Given the description of an element on the screen output the (x, y) to click on. 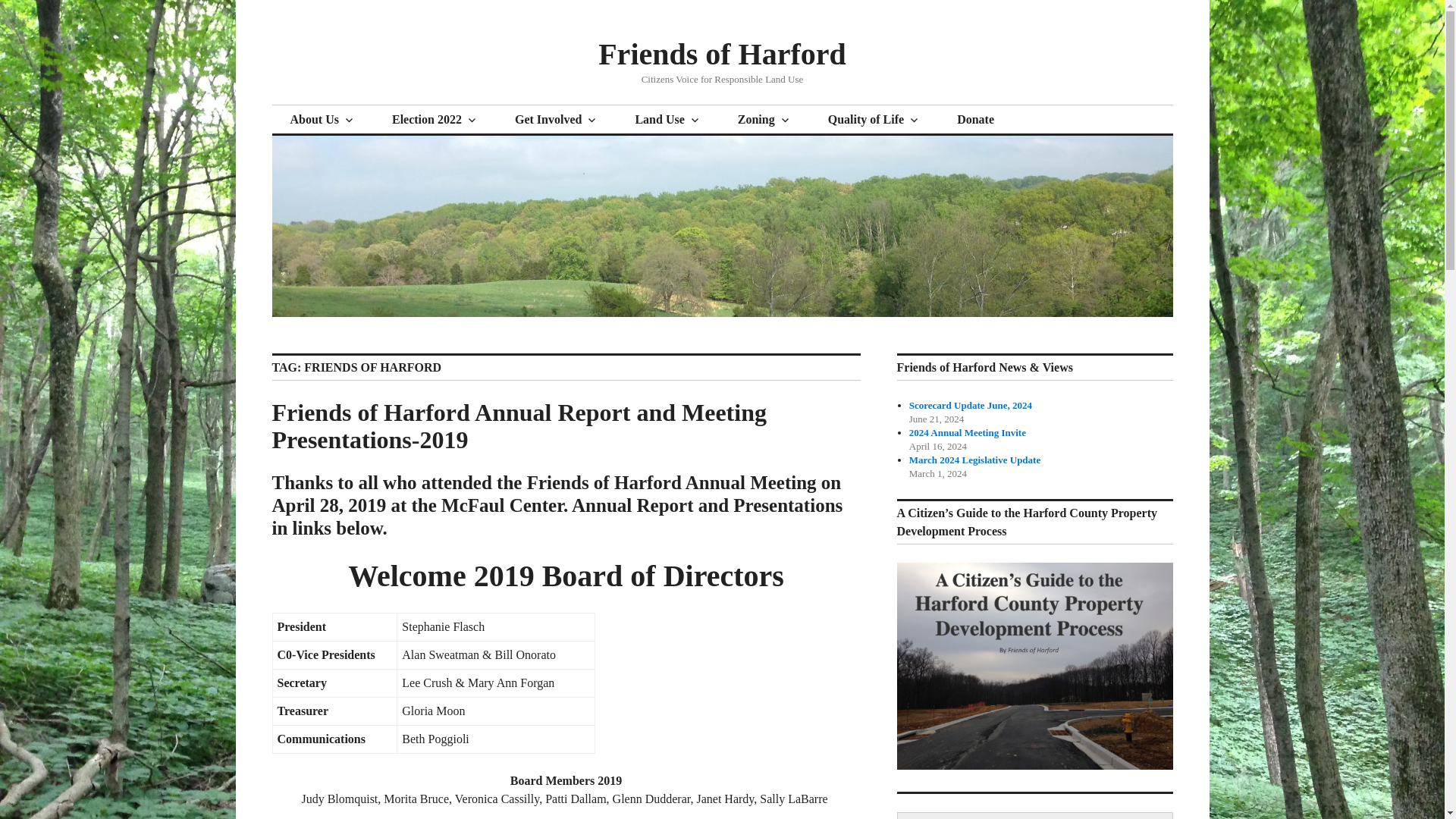
About Us (321, 119)
A Citizen's Guide (1034, 766)
Friends of Harford- About Us (321, 119)
Election 2022 (435, 119)
Friends of Harford (721, 53)
Land Use (667, 119)
Zoning (764, 119)
Get Involved (555, 119)
